Given the description of an element on the screen output the (x, y) to click on. 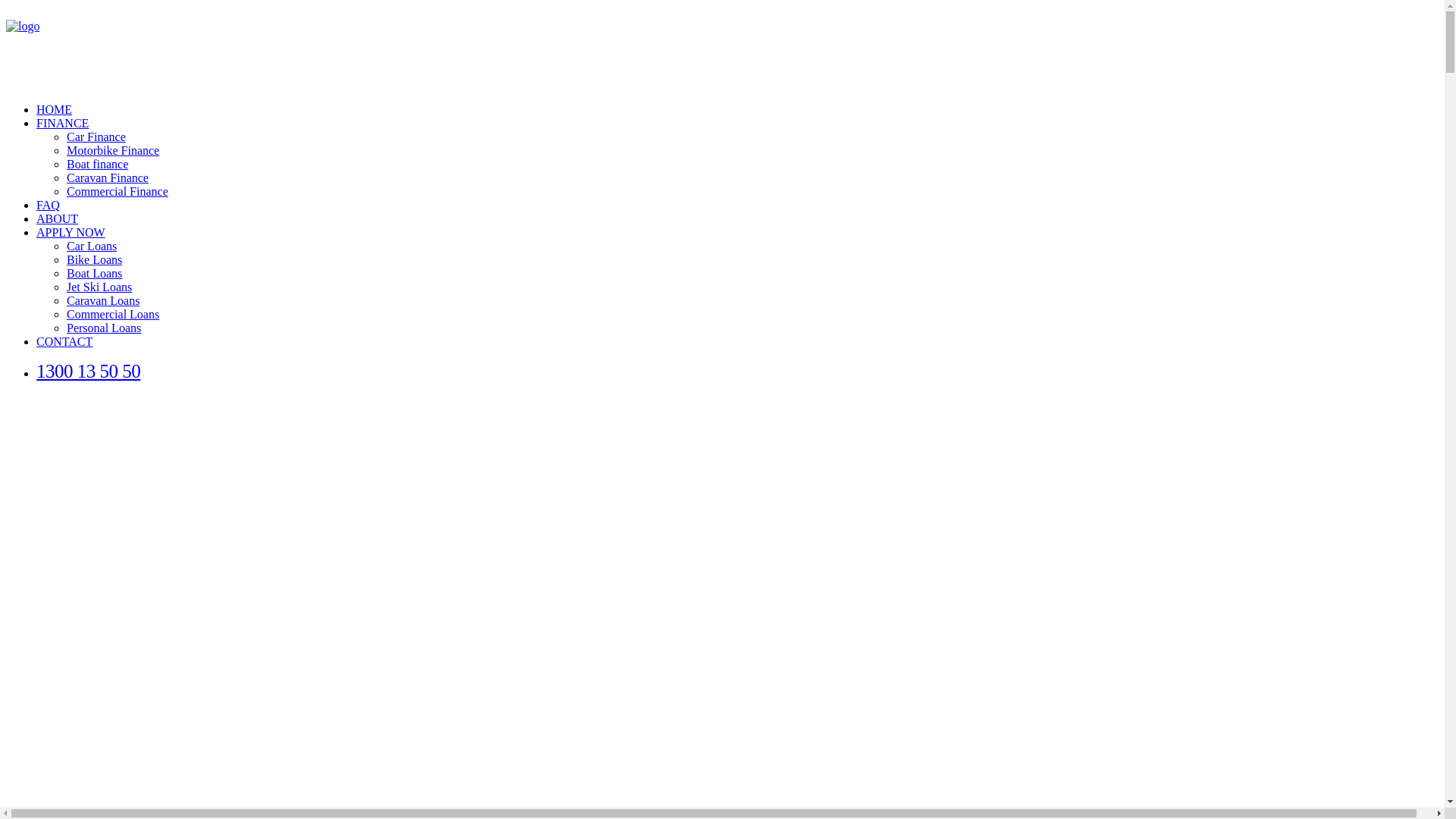
ABOUT Element type: text (57, 218)
Personal Loans Element type: text (103, 327)
Boat finance Element type: text (97, 163)
FINANCE Element type: text (62, 122)
Motorbike Finance Element type: text (112, 150)
Bike Loans Element type: text (94, 259)
Boat Loans Element type: text (94, 272)
APPLY NOW Element type: text (70, 231)
Jet Ski Loans Element type: text (98, 286)
Car Loans Element type: text (91, 245)
Caravan Finance Element type: text (107, 177)
HOME Element type: text (54, 109)
CONTACT Element type: text (64, 341)
FAQ Element type: text (47, 204)
Car Finance Element type: text (95, 136)
Caravan Loans Element type: text (102, 300)
Commercial Finance Element type: text (117, 191)
Commercial Loans Element type: text (112, 313)
1300 13 50 50 Element type: text (88, 370)
